Given the description of an element on the screen output the (x, y) to click on. 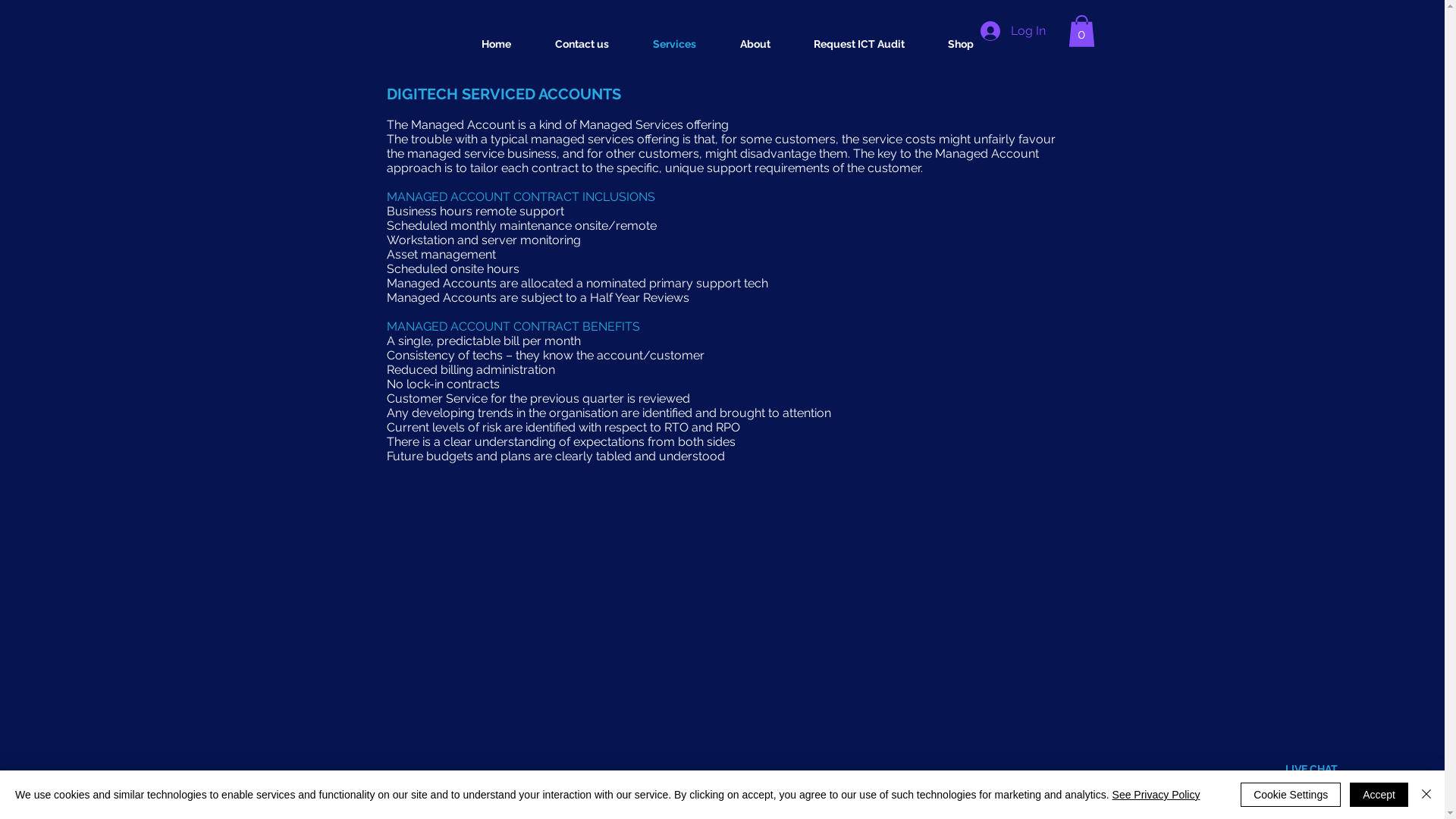
LIVE CHAT Element type: text (1310, 768)
0 Element type: text (1080, 31)
Request ICT Audit Element type: text (858, 43)
Shop Element type: text (960, 43)
Contact us Element type: text (581, 43)
Log In Element type: text (1012, 30)
Cookie Settings Element type: text (1290, 794)
About Element type: text (754, 43)
See Privacy Policy Element type: text (1156, 794)
Services Element type: text (674, 43)
Accept Element type: text (1378, 794)
Home Element type: text (496, 43)
